Given the description of an element on the screen output the (x, y) to click on. 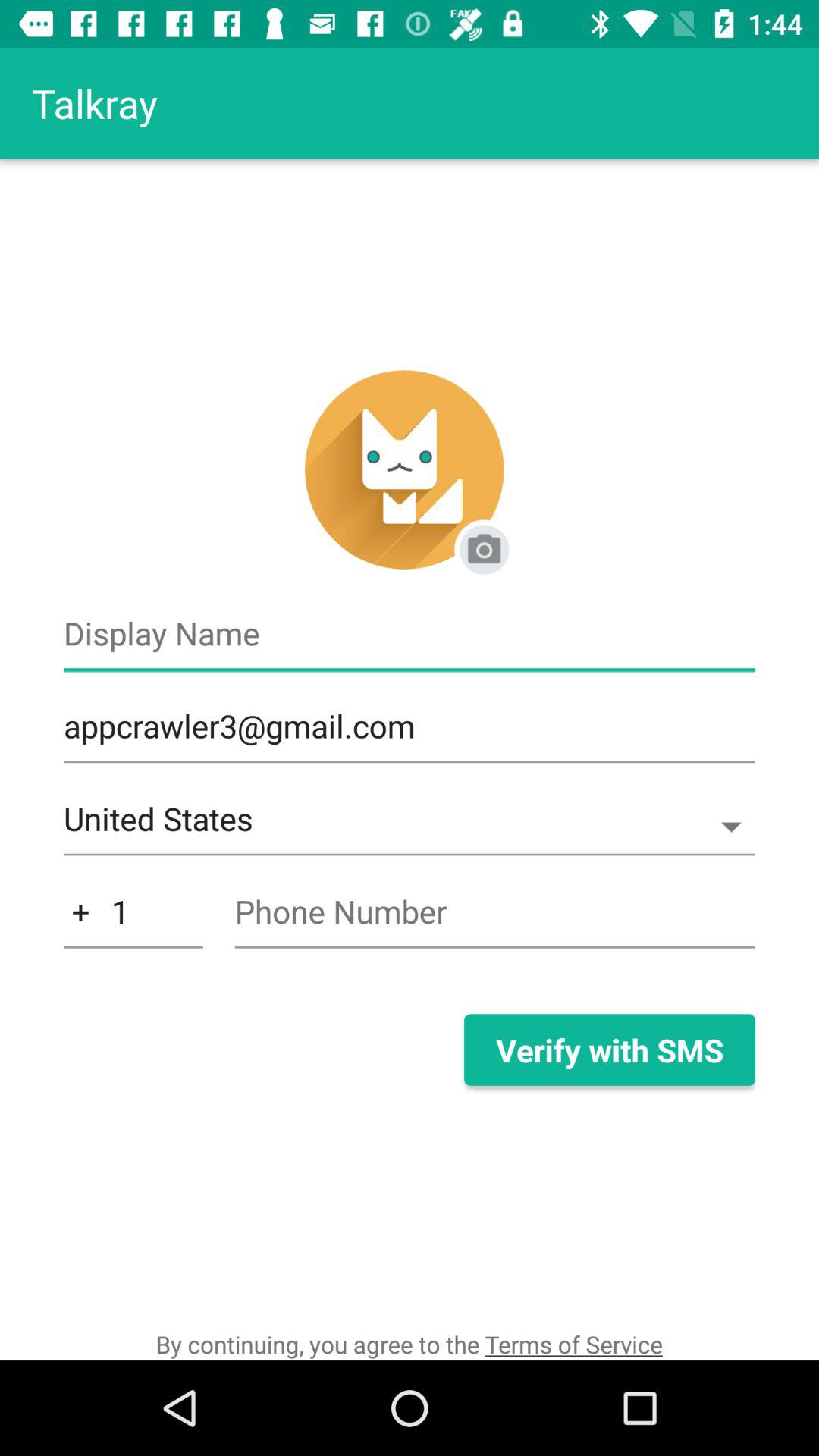
press item below the united states icon (133, 919)
